Given the description of an element on the screen output the (x, y) to click on. 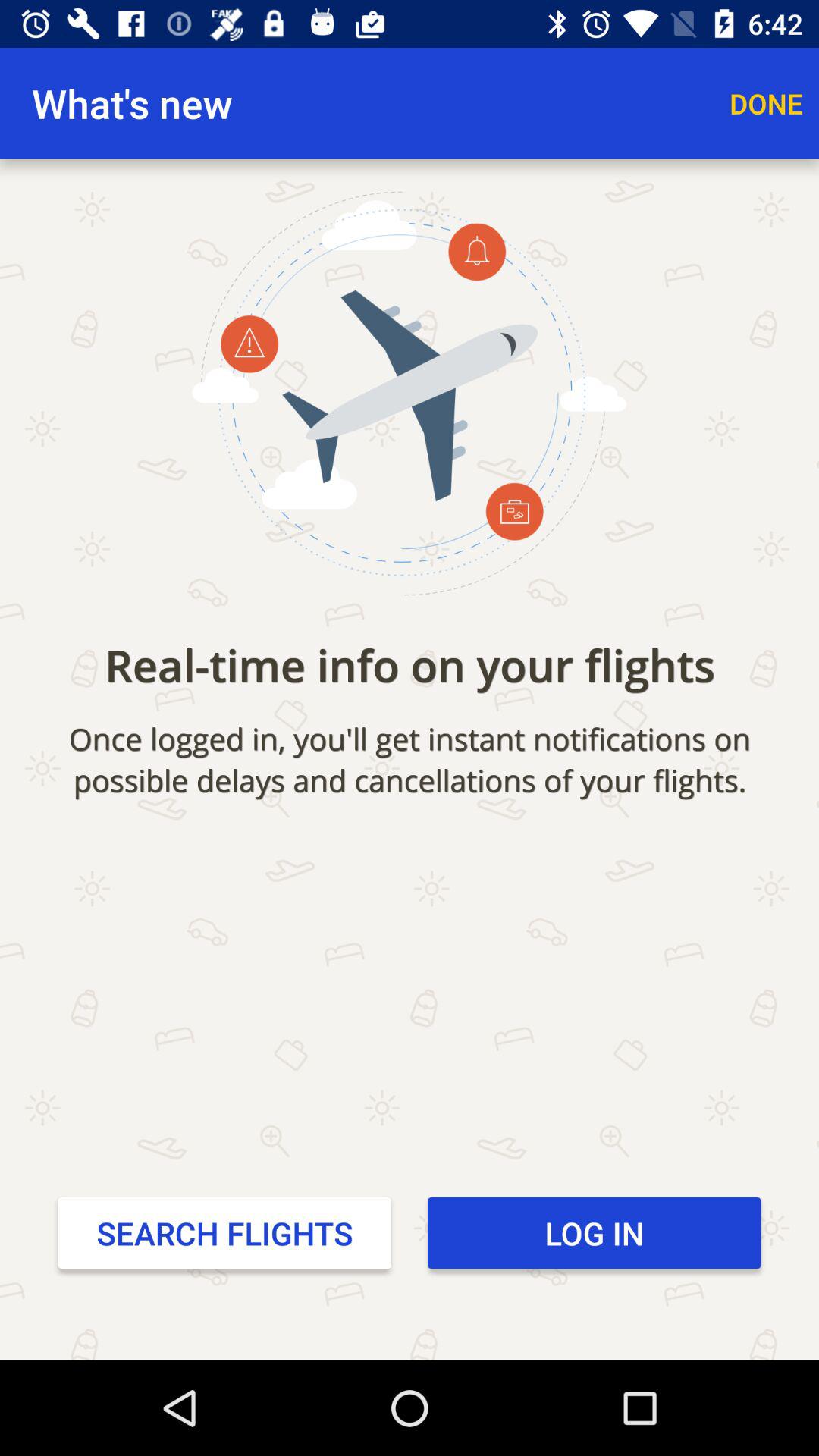
turn off the search flights at the bottom left corner (224, 1232)
